Given the description of an element on the screen output the (x, y) to click on. 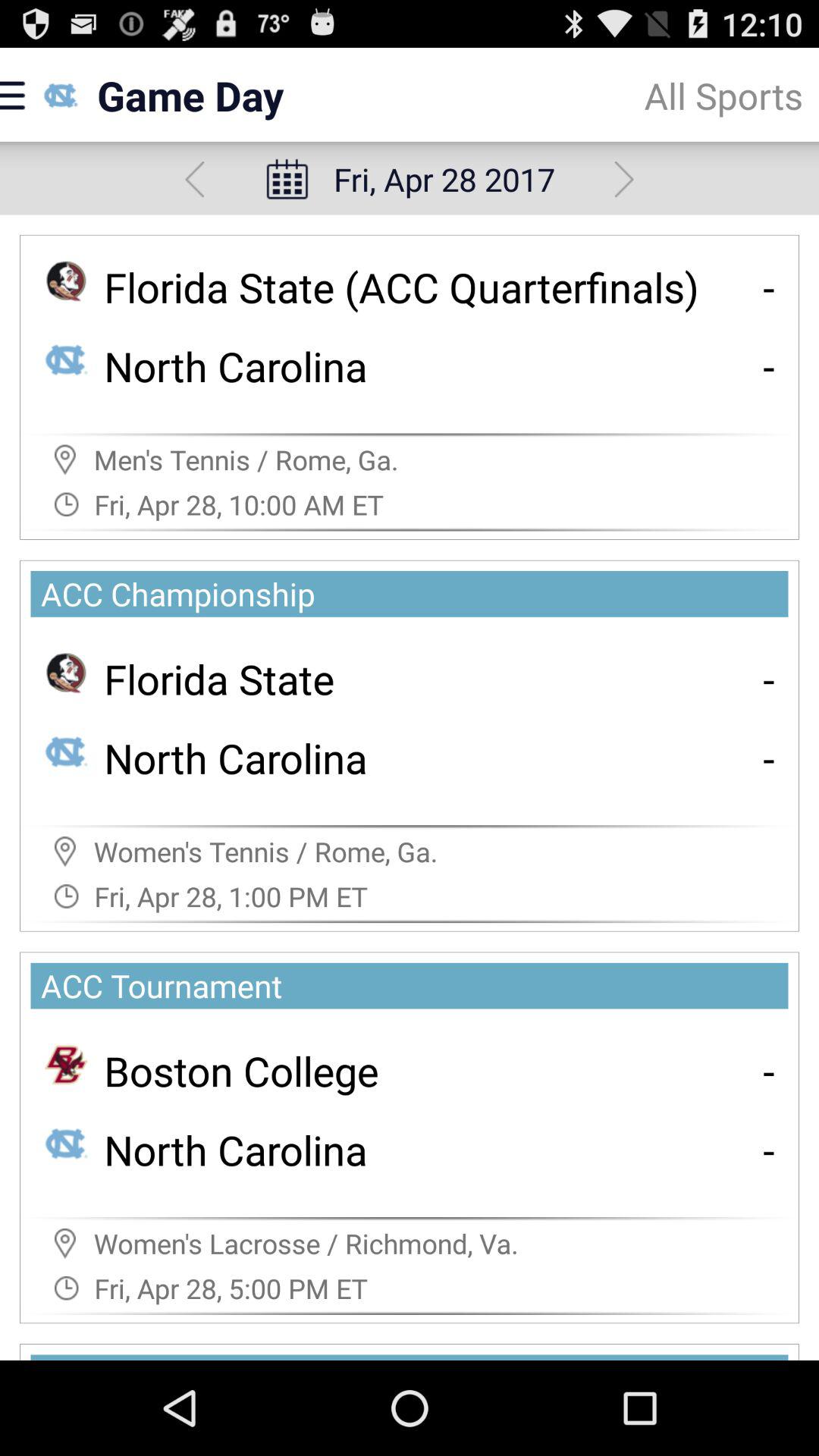
previous day (194, 178)
